Given the description of an element on the screen output the (x, y) to click on. 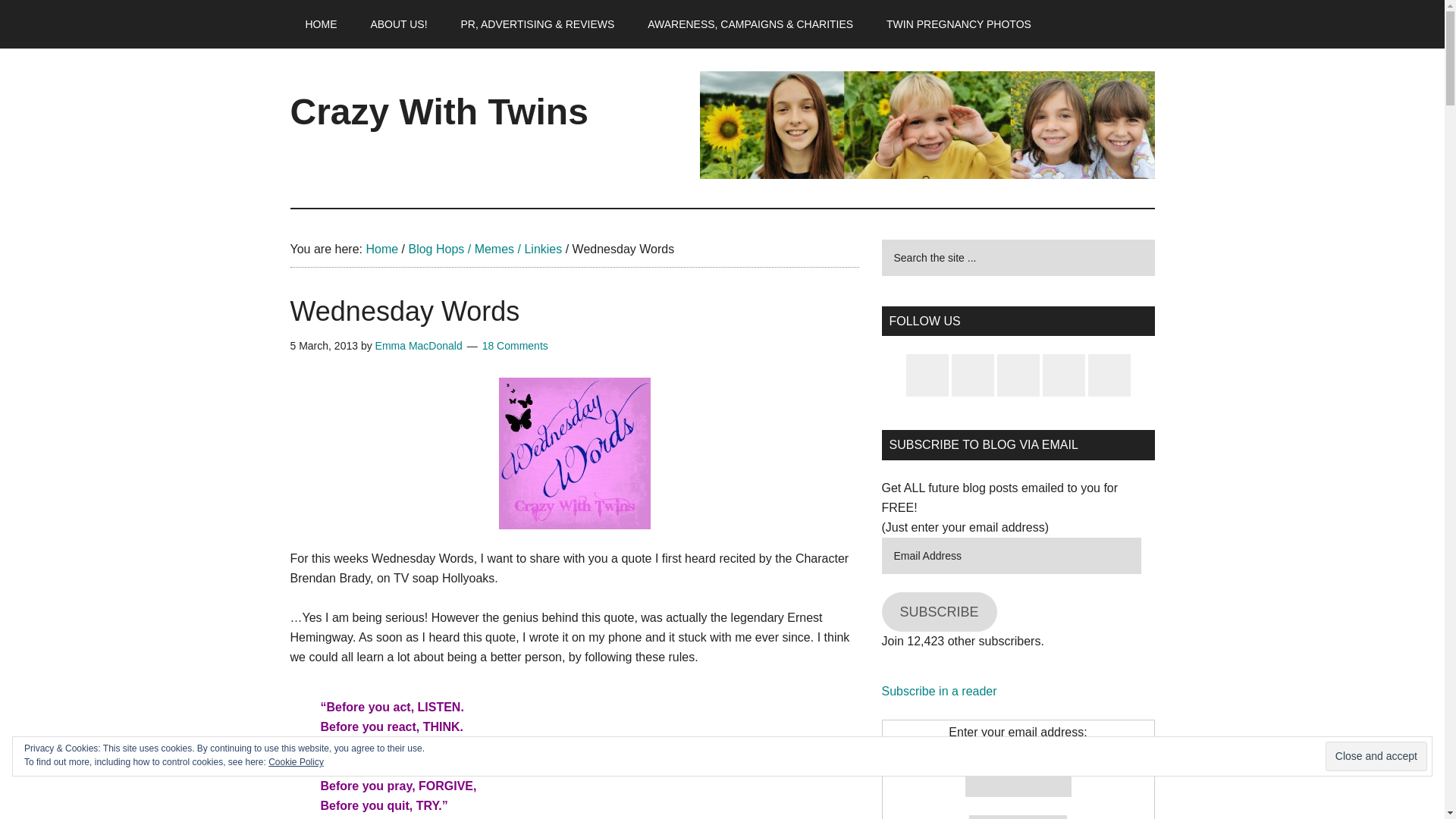
TWIN PREGNANCY PHOTOS (958, 24)
Home (381, 248)
ABOUT US! (398, 24)
18 Comments (514, 345)
Crazy With Twins (438, 111)
Emma MacDonald (419, 345)
Subscribe (1018, 816)
Close and accept (1375, 756)
